Given the description of an element on the screen output the (x, y) to click on. 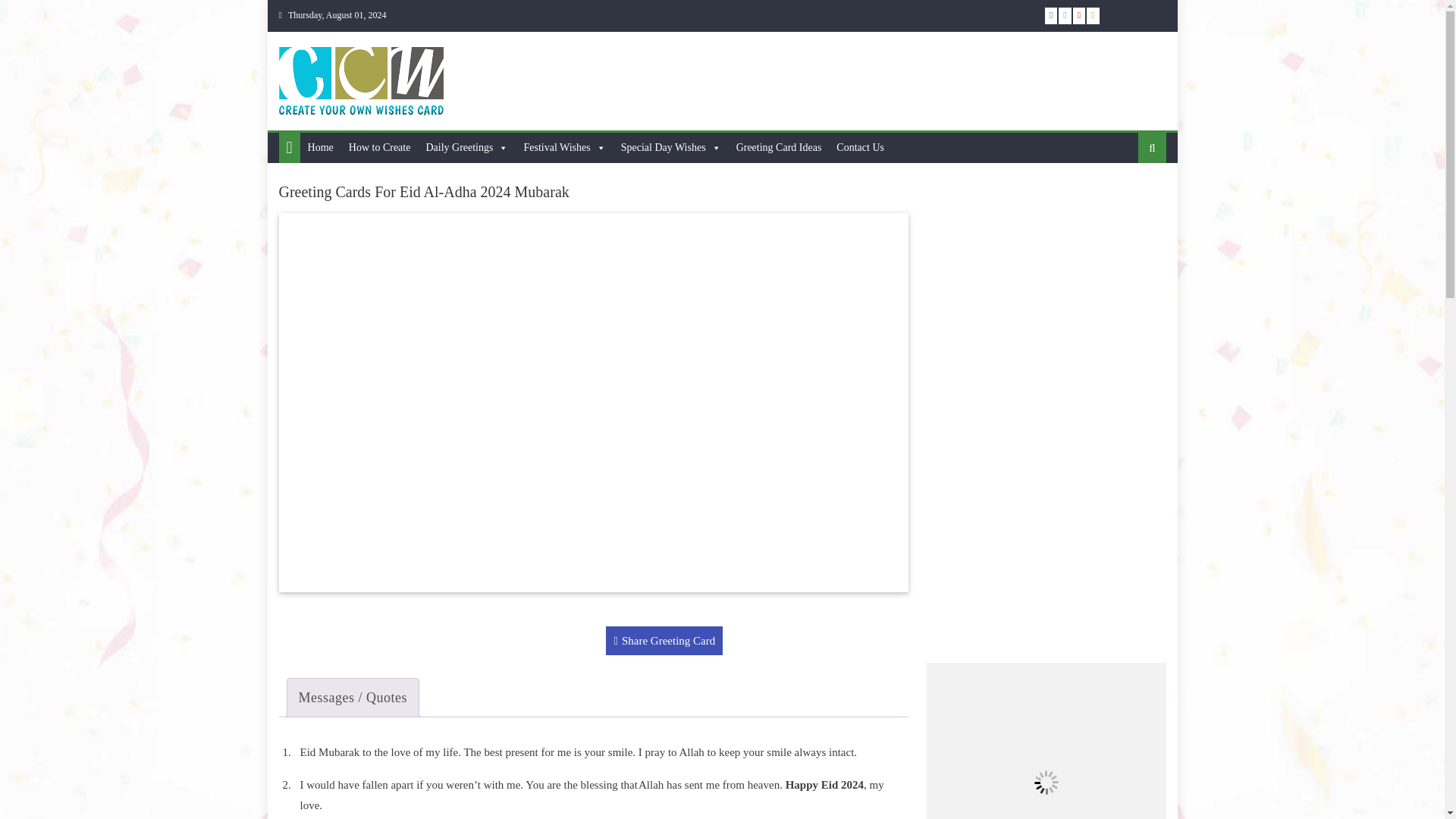
How to Create (379, 147)
Daily Greetings (466, 147)
Home (319, 147)
Festival Wishes (563, 147)
